Given the description of an element on the screen output the (x, y) to click on. 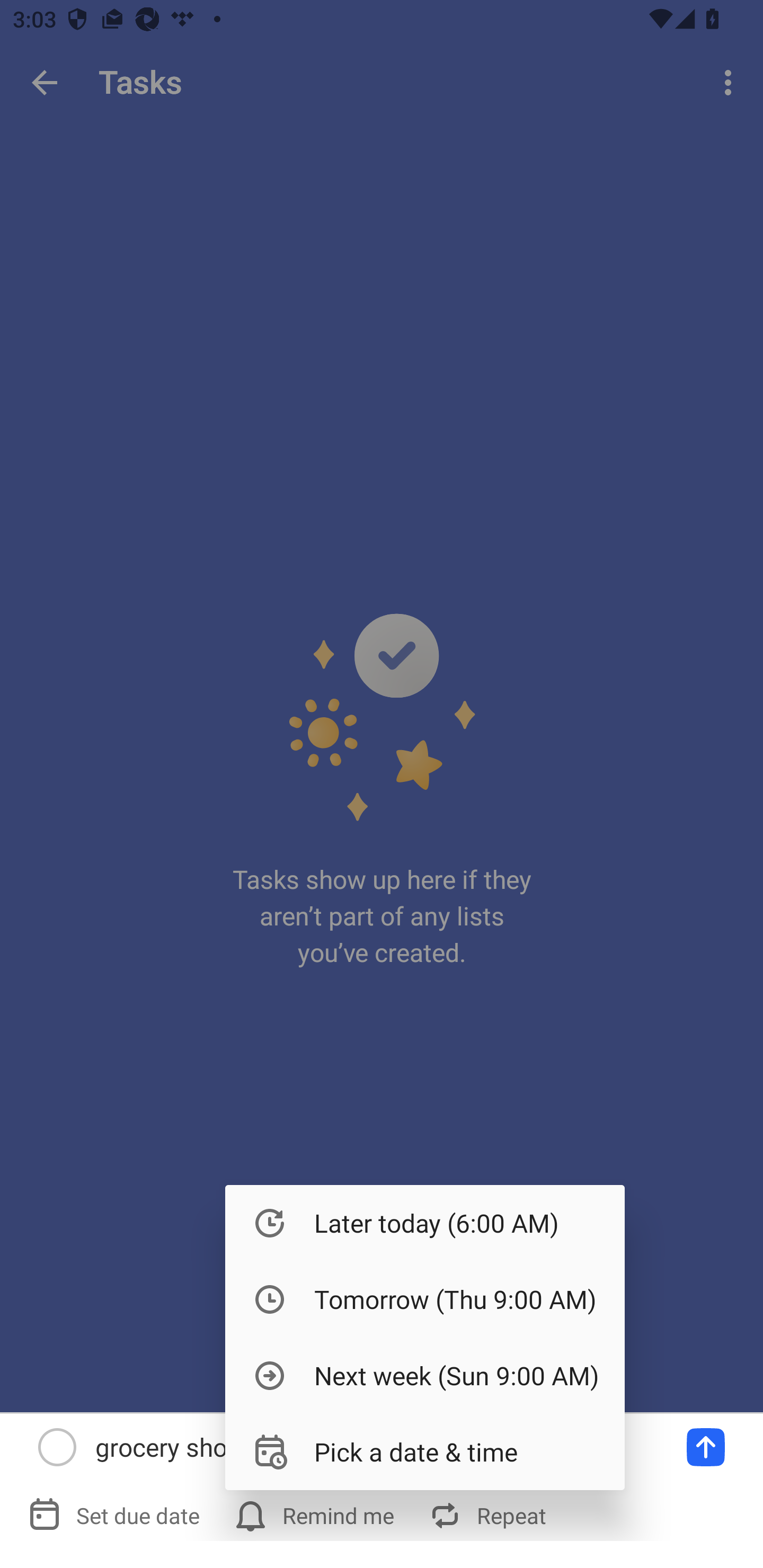
Pick a date & time4 in 4 Pick a date & time (424, 1451)
